Given the description of an element on the screen output the (x, y) to click on. 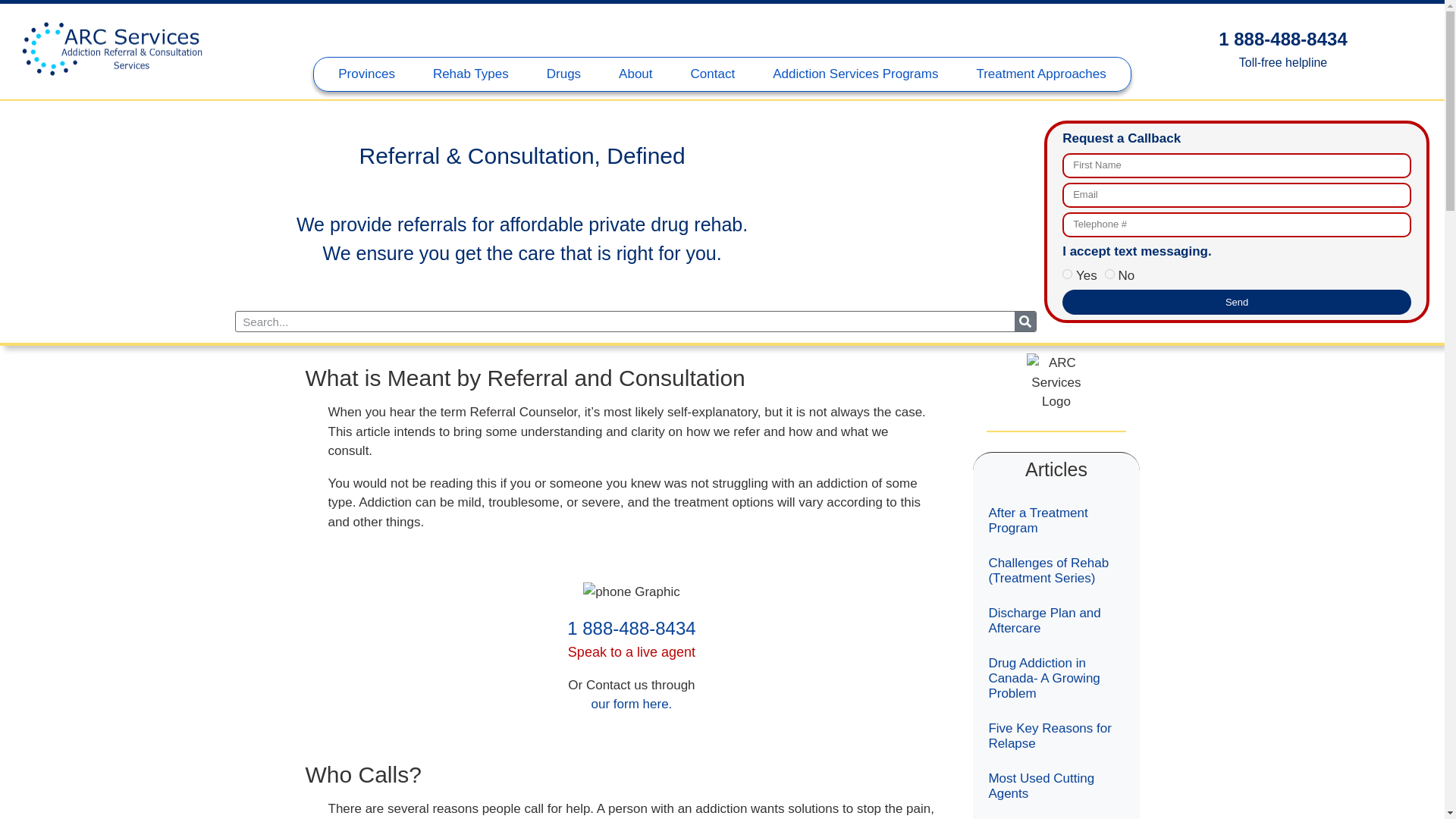
circle-logo-160sq (1056, 381)
Yes (1066, 274)
Provinces (365, 73)
No (1110, 274)
